Given the description of an element on the screen output the (x, y) to click on. 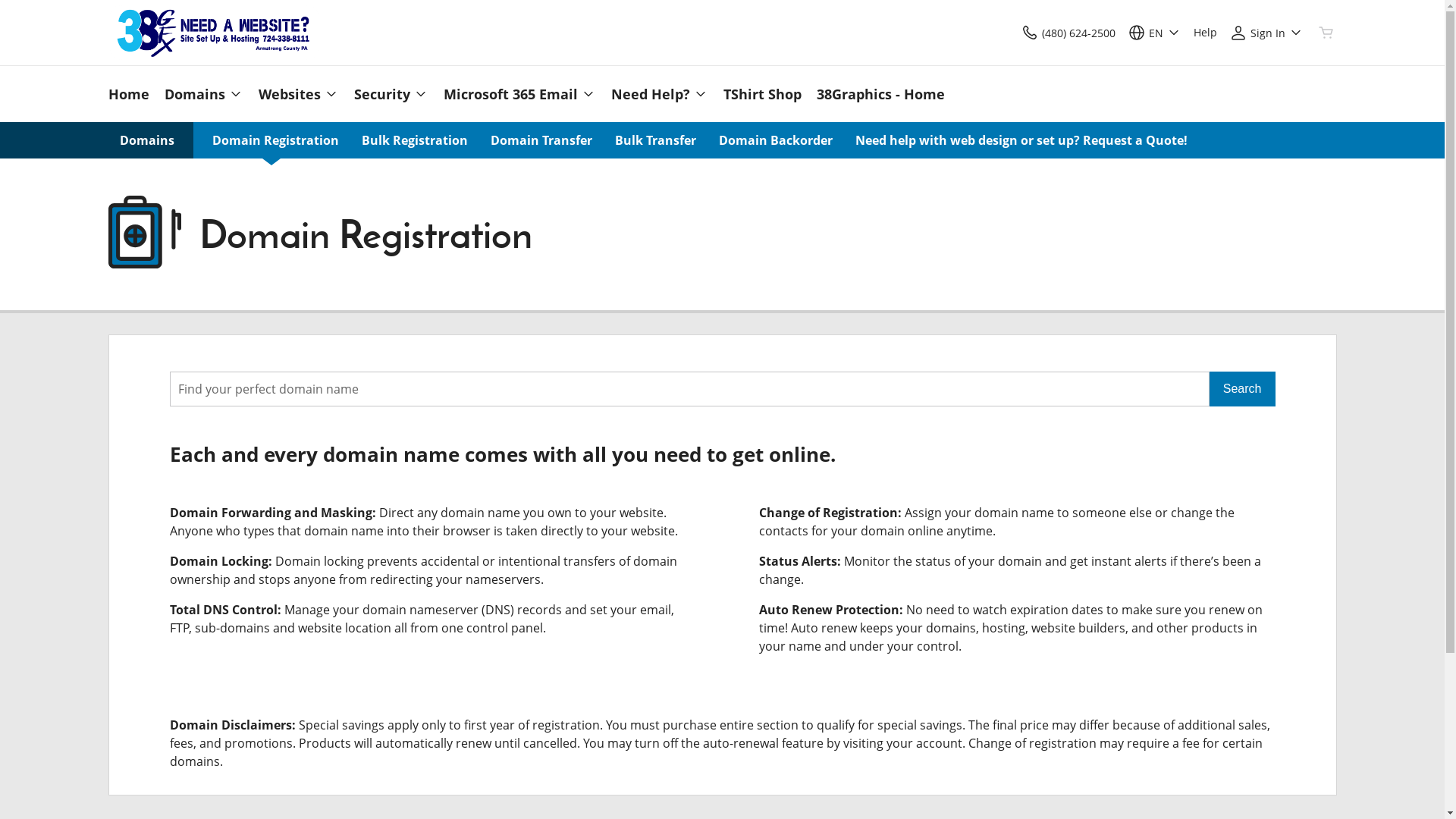
Domain Backorder Element type: text (775, 139)
Need help with web design or set up? Request a Quote! Element type: text (1021, 139)
Sign In Element type: text (1265, 32)
Security Element type: text (390, 93)
Domain Transfer Element type: text (540, 139)
Microsoft 365 Email Element type: text (518, 93)
EN Element type: text (1153, 32)
38Graphics - Home Element type: text (876, 93)
Websites Element type: text (297, 93)
TShirt Shop Element type: text (762, 93)
Bulk Transfer Element type: text (654, 139)
Domains Element type: text (203, 93)
Search Element type: text (1242, 388)
Help Element type: text (1205, 32)
Need Help? Element type: text (659, 93)
Home Element type: text (131, 93)
Domain Registration Element type: text (275, 139)
Contact Us Element type: hover (1029, 32)
(480) 624-2500 Element type: text (1067, 32)
Bulk Registration Element type: text (413, 139)
